Given the description of an element on the screen output the (x, y) to click on. 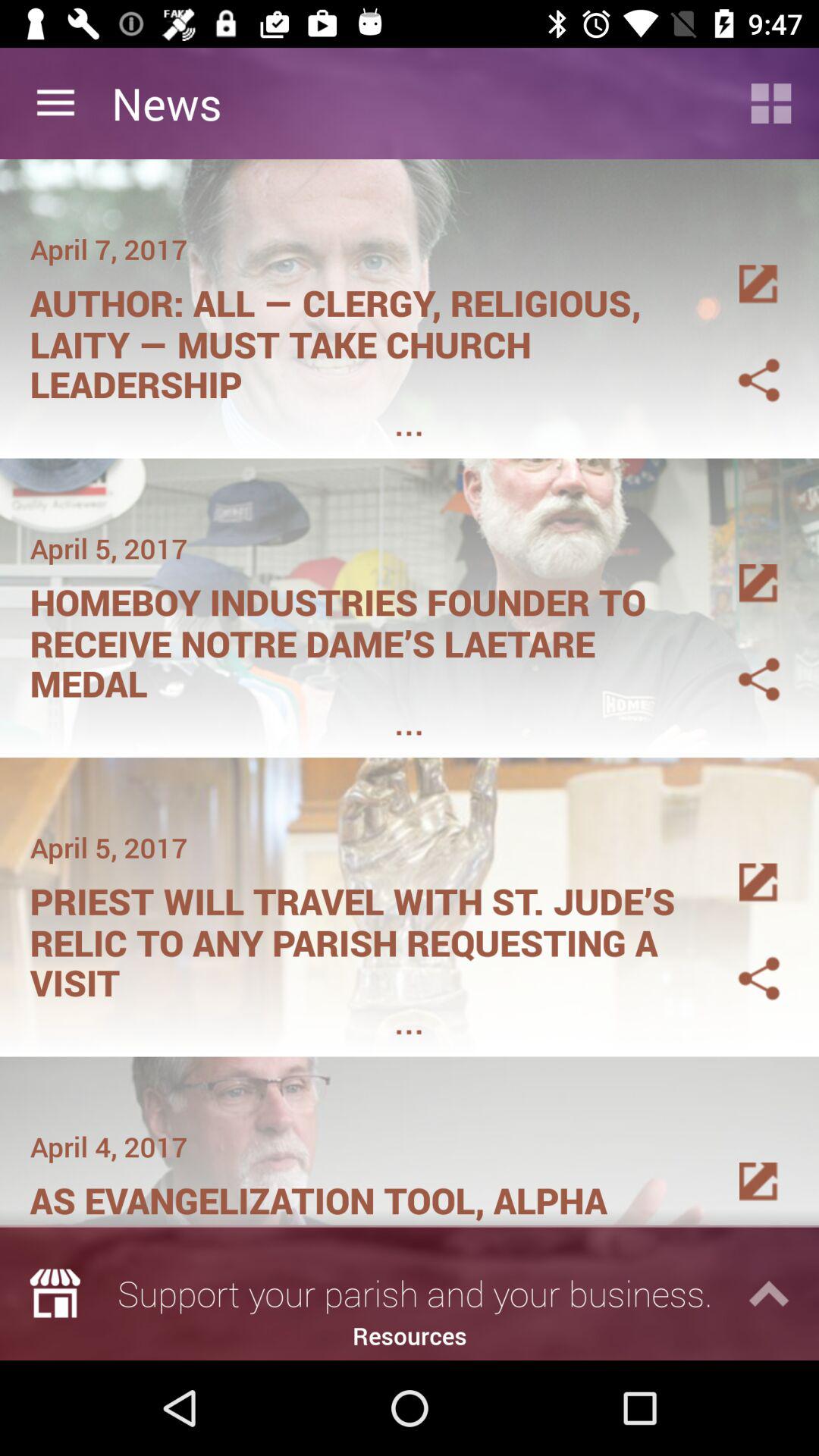
read the article (740, 864)
